Given the description of an element on the screen output the (x, y) to click on. 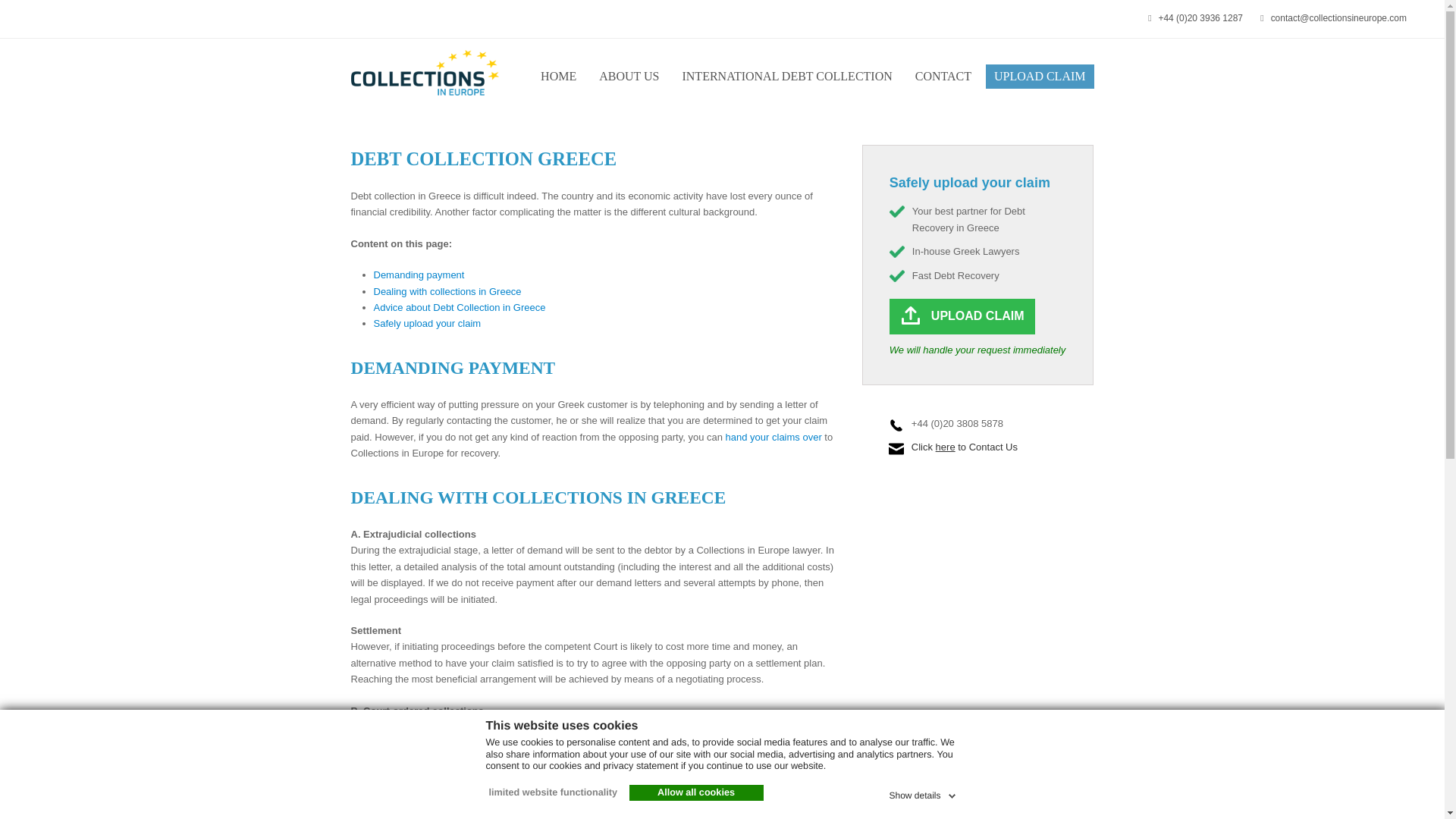
HOME (558, 76)
UPLOAD CLAIM (1039, 76)
ABOUT US (628, 76)
CONTACT (943, 76)
limited website functionality (550, 792)
Show details (923, 792)
INTERNATIONAL DEBT COLLECTION (785, 76)
Allow all cookies (695, 792)
